Given the description of an element on the screen output the (x, y) to click on. 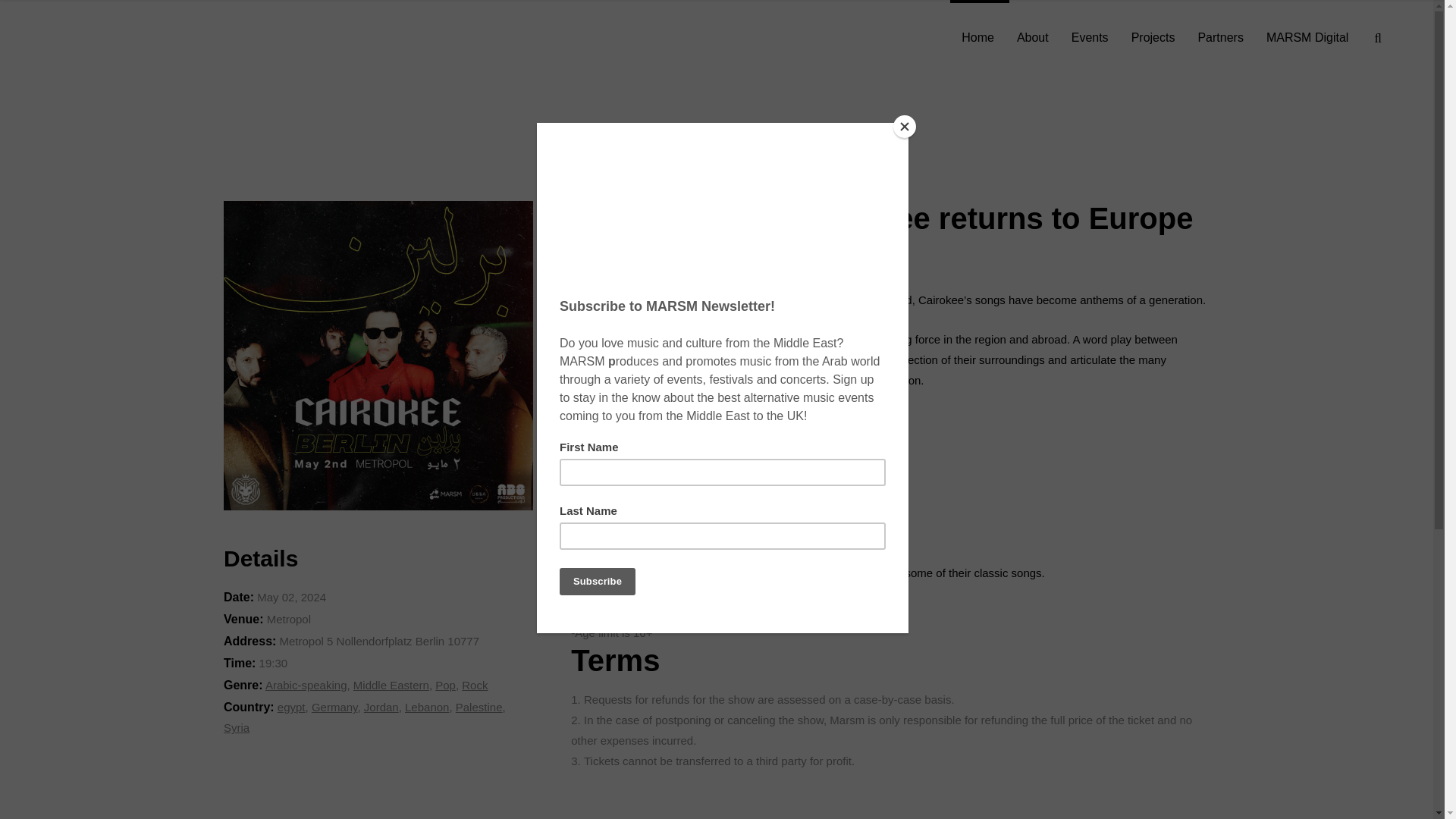
MARSM Digital (1307, 38)
Partners (1219, 38)
